Given the description of an element on the screen output the (x, y) to click on. 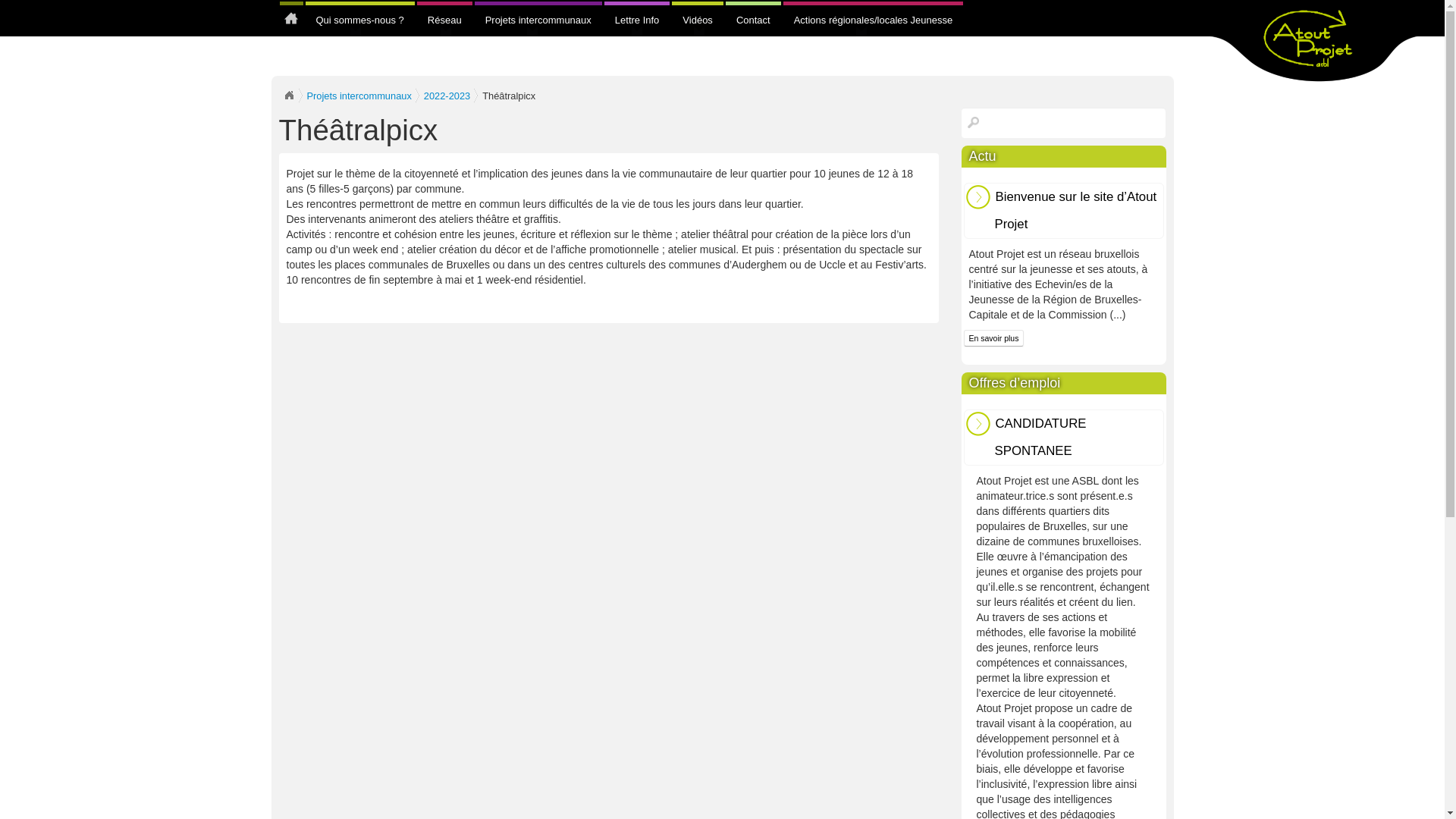
Contact Element type: text (753, 14)
En savoir plus Element type: text (993, 337)
Accueil du site Element type: text (288, 95)
Projets intercommunaux Element type: text (538, 19)
CANDIDATURE SPONTANEE Element type: text (1063, 437)
Projets intercommunaux Element type: text (358, 95)
Lettre Info Element type: text (637, 19)
Rechercher Element type: hover (970, 122)
Qui sommes-nous ? Element type: text (359, 19)
2022-2023 Element type: text (446, 95)
